Given the description of an element on the screen output the (x, y) to click on. 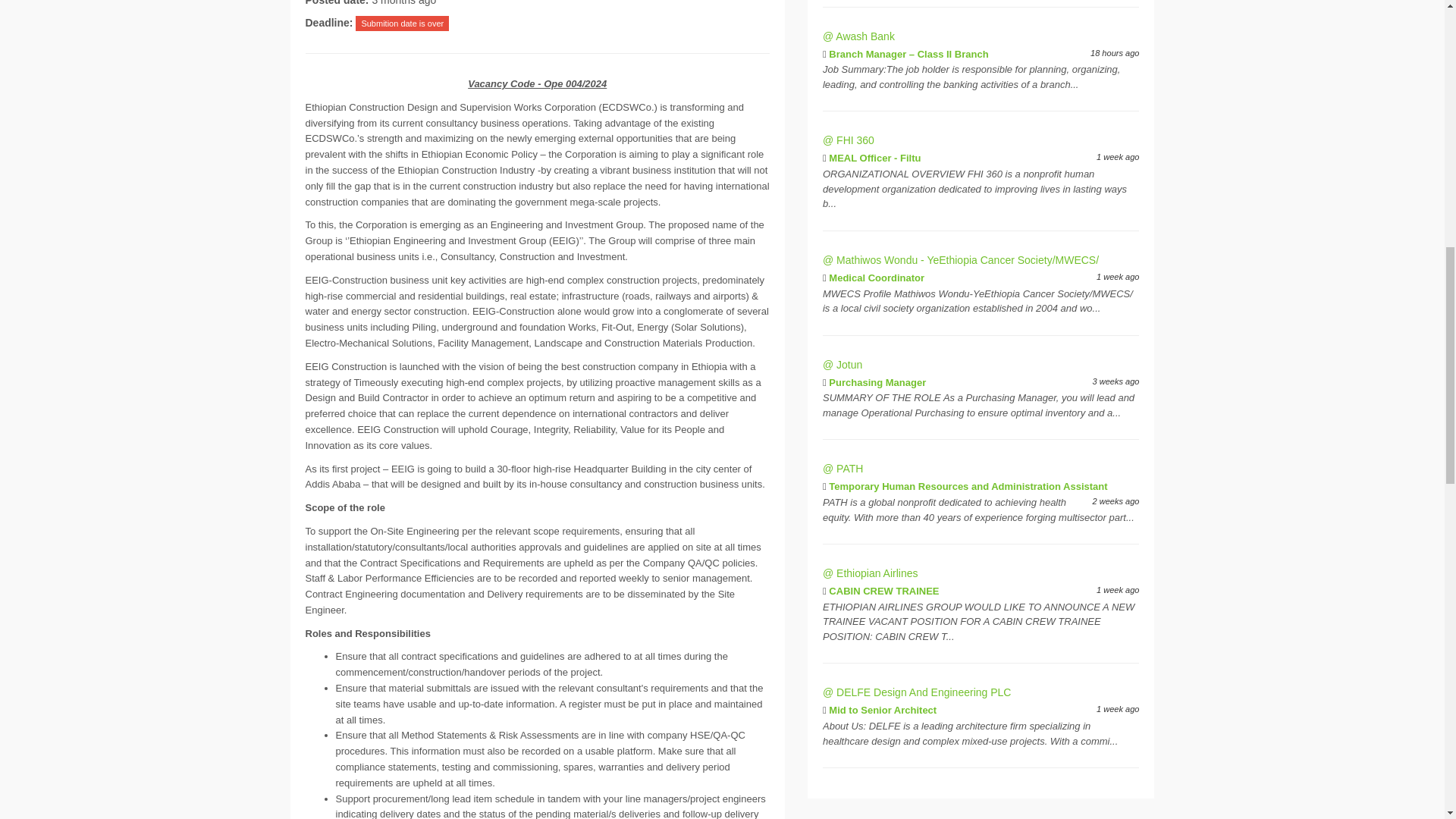
Mid to Senior Architect (882, 709)
Purchasing Manager (877, 382)
Temporary Human Resources and Administration Assistant (967, 486)
Medical Coordinator (876, 277)
CABIN CREW TRAINEE (883, 591)
MEAL Officer - Filtu (874, 157)
